Given the description of an element on the screen output the (x, y) to click on. 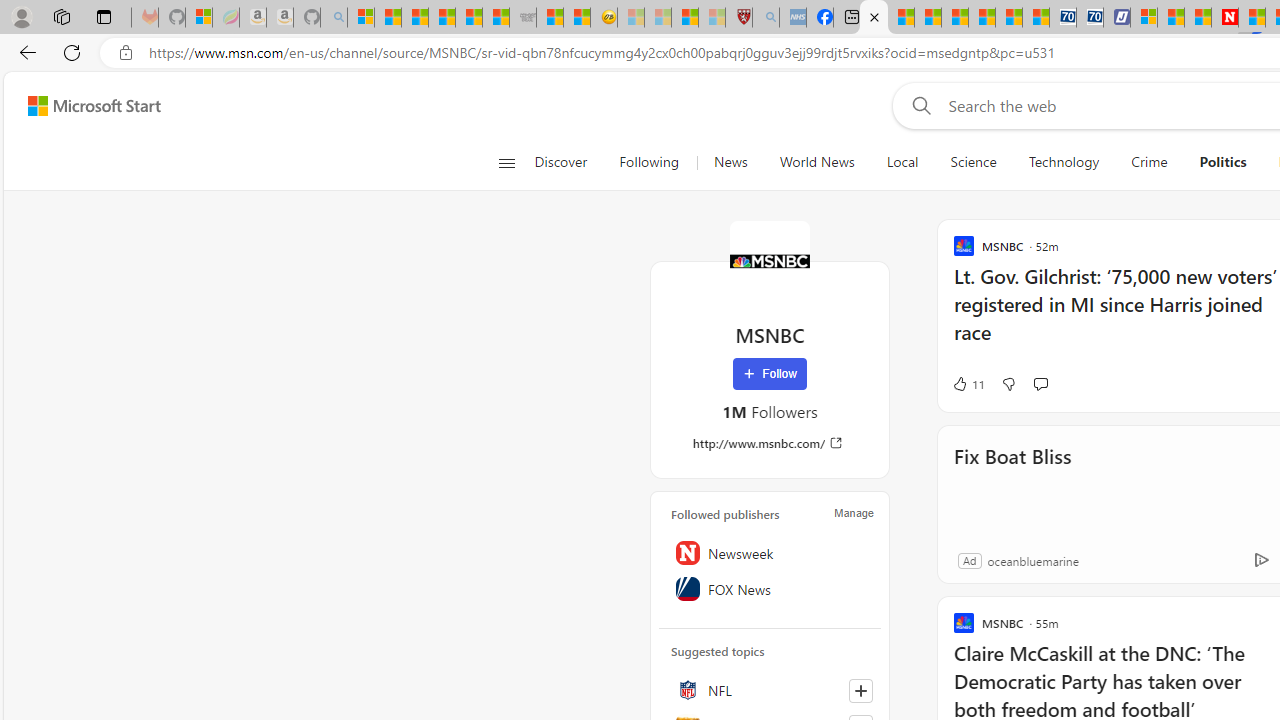
Politics (1222, 162)
The Weather Channel - MSN (414, 17)
Local (902, 162)
Following (649, 162)
News (729, 162)
FOX News (770, 588)
oceanbluemarine (1032, 560)
Following (648, 162)
Cheap Car Rentals - Save70.com (1062, 17)
Newsweek - News, Analysis, Politics, Business, Technology (1224, 17)
